Given the description of an element on the screen output the (x, y) to click on. 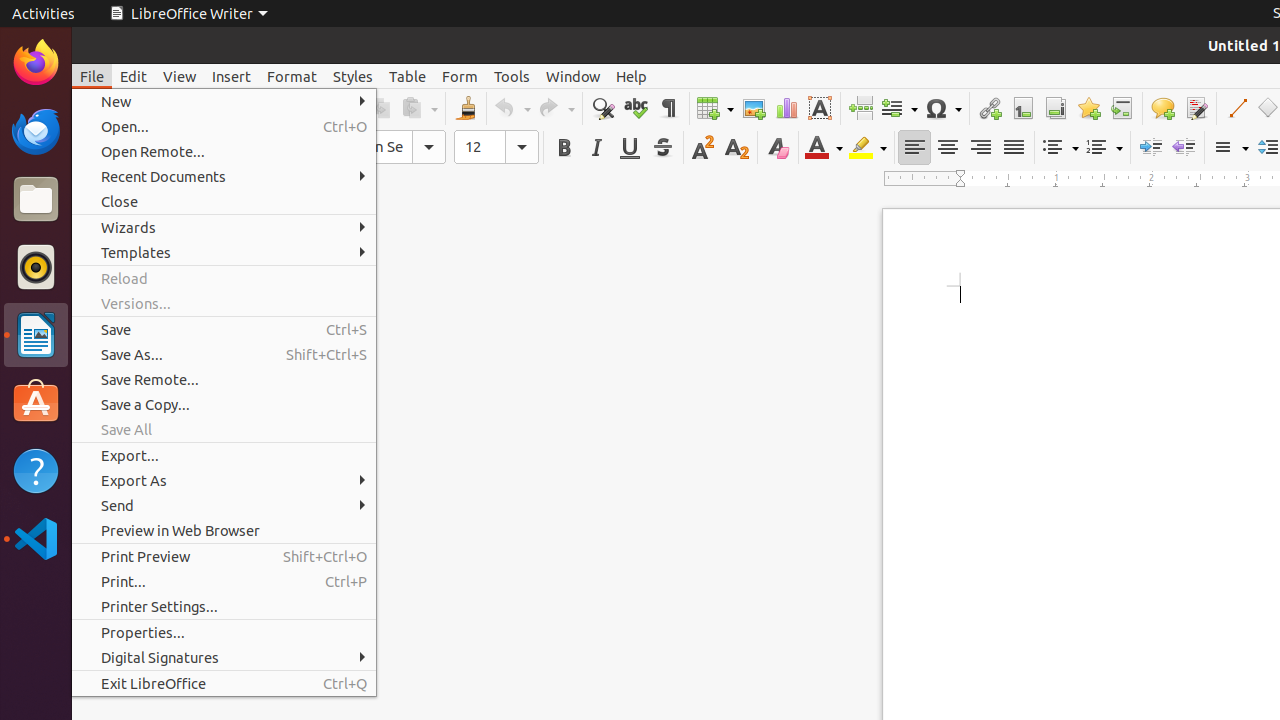
Table Element type: push-button (715, 108)
Footnote Element type: push-button (1022, 108)
Paste Element type: push-button (419, 108)
Edit Element type: menu (133, 76)
File Element type: menu (92, 76)
